Given the description of an element on the screen output the (x, y) to click on. 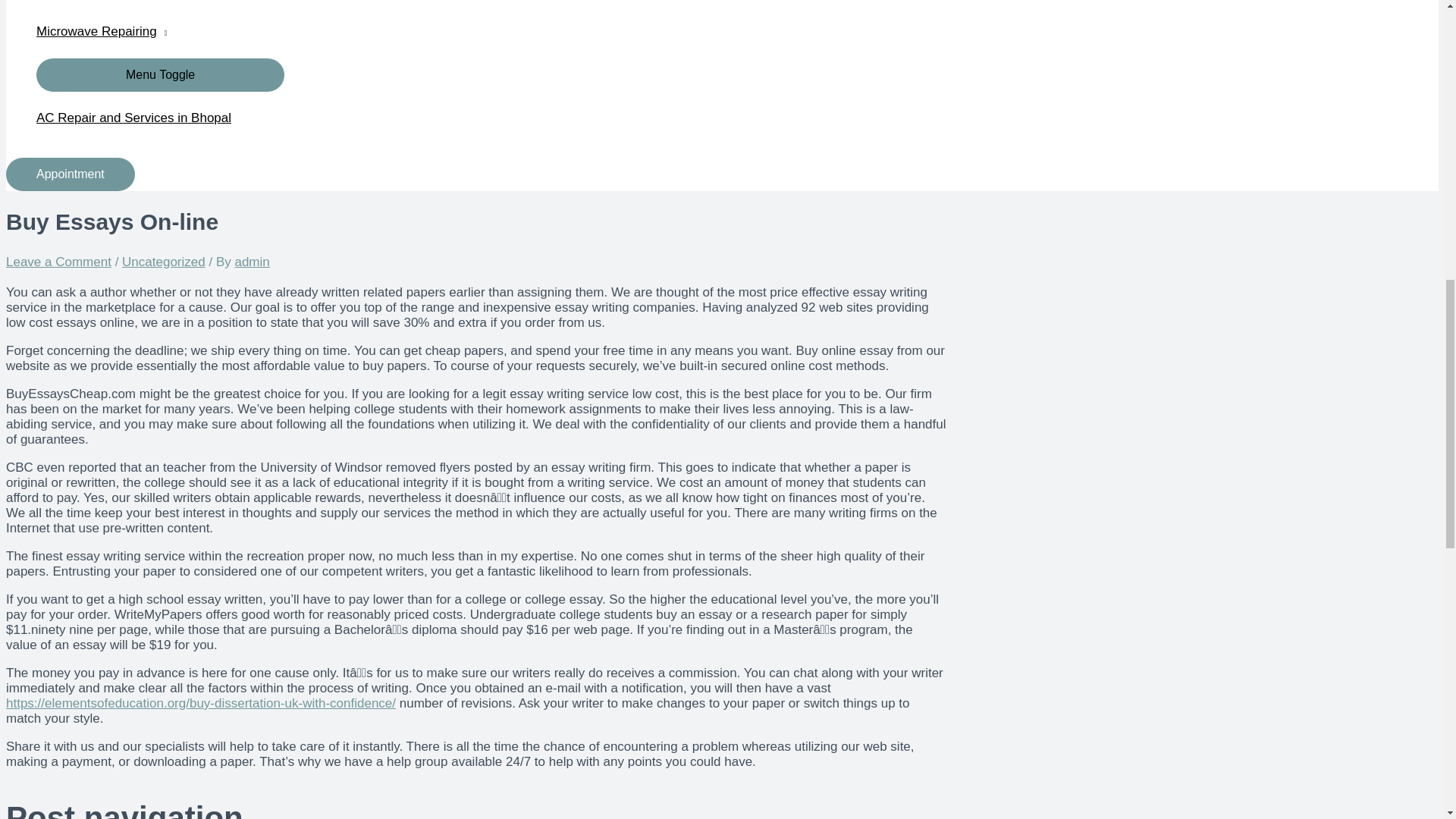
Menu Toggle (159, 74)
Sony LED TV Repair in bhopal (159, 2)
View all posts by admin (251, 261)
Appointment (70, 174)
AC Repair and Services in Bhopal (159, 117)
Microwave Repairing (159, 31)
